Given the description of an element on the screen output the (x, y) to click on. 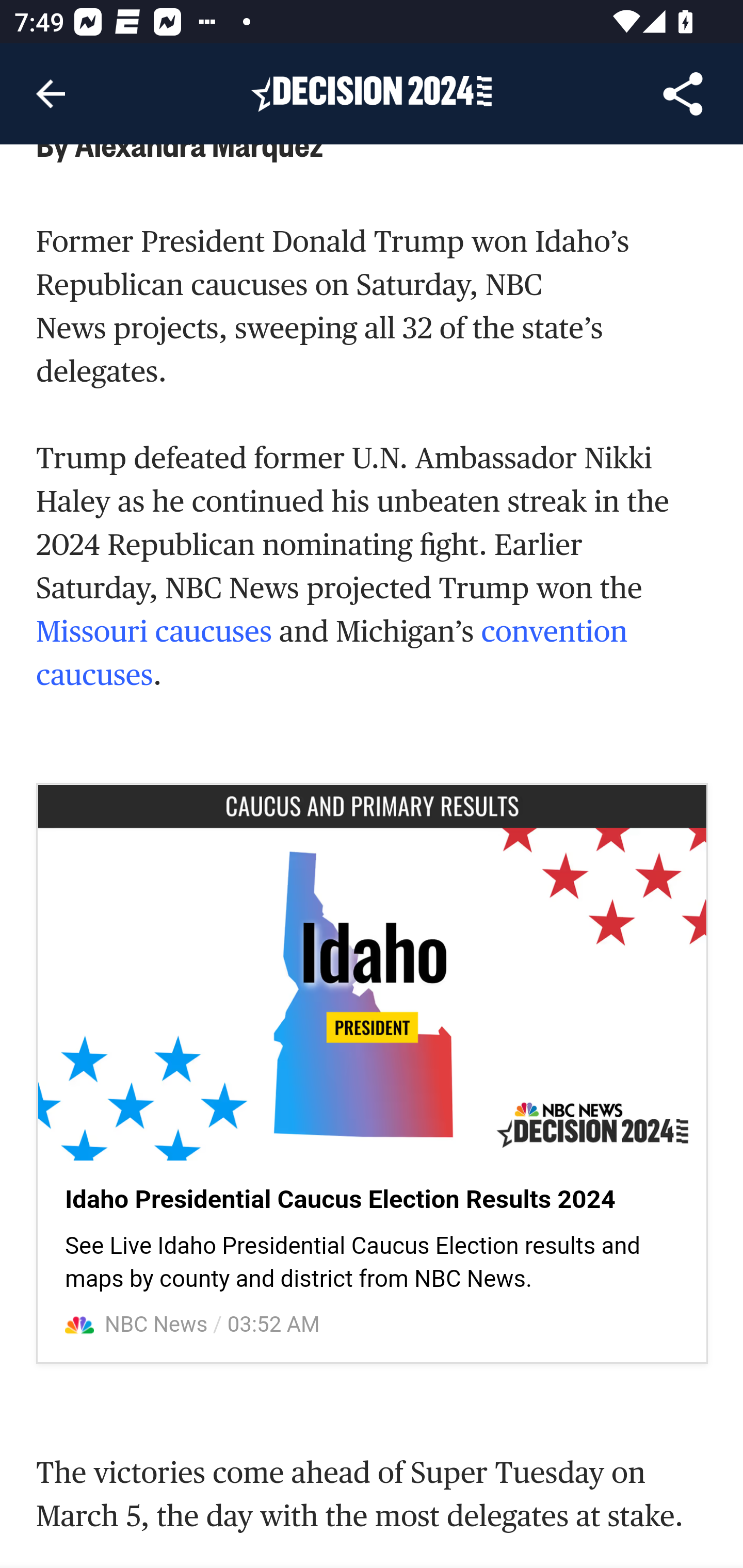
Navigate up (50, 93)
Share Article, button (683, 94)
Header, Decision 2024 (371, 93)
Missouri caucuses (154, 632)
convention caucuses (332, 654)
Idaho Presidential Caucus Election Results 2024 (340, 1200)
NBC News (156, 1325)
